Given the description of an element on the screen output the (x, y) to click on. 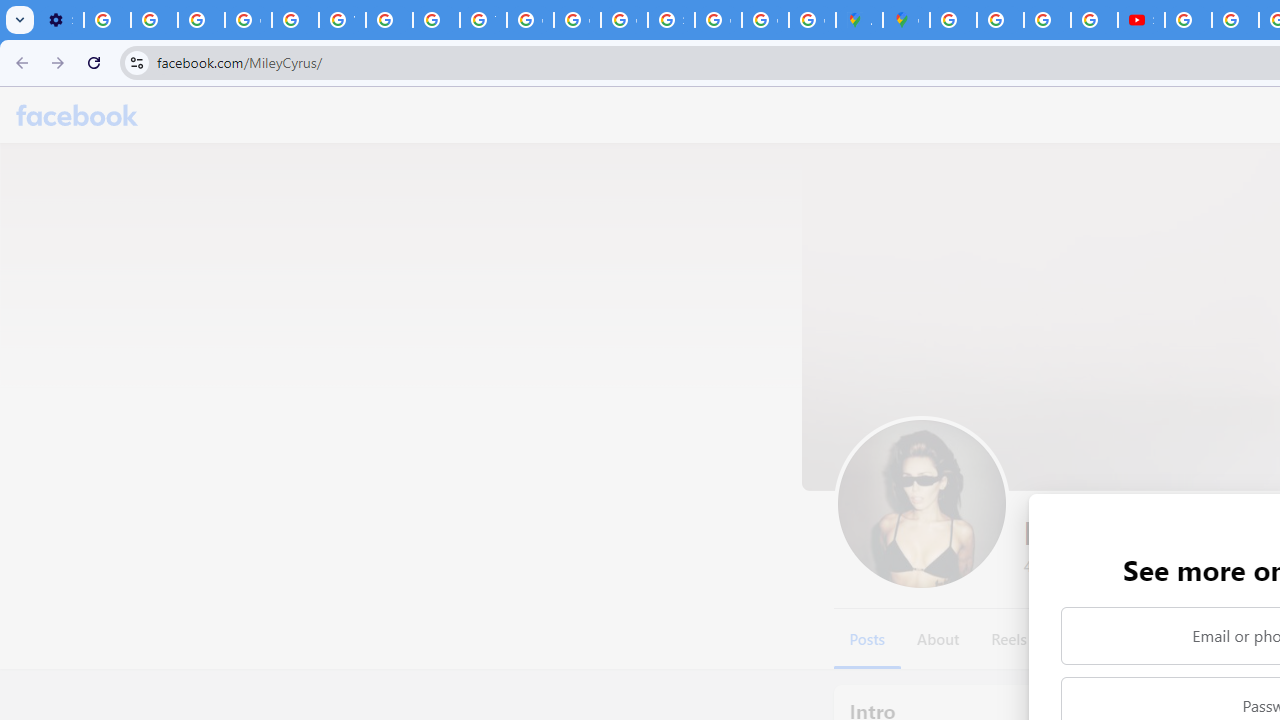
Subscriptions - YouTube (1140, 20)
Google Maps (906, 20)
Privacy Help Center - Policies Help (294, 20)
Delete photos & videos - Computer - Google Photos Help (107, 20)
How Chrome protects your passwords - Google Chrome Help (1188, 20)
Privacy Help Center - Policies Help (436, 20)
Sign in - Google Accounts (671, 20)
